Given the description of an element on the screen output the (x, y) to click on. 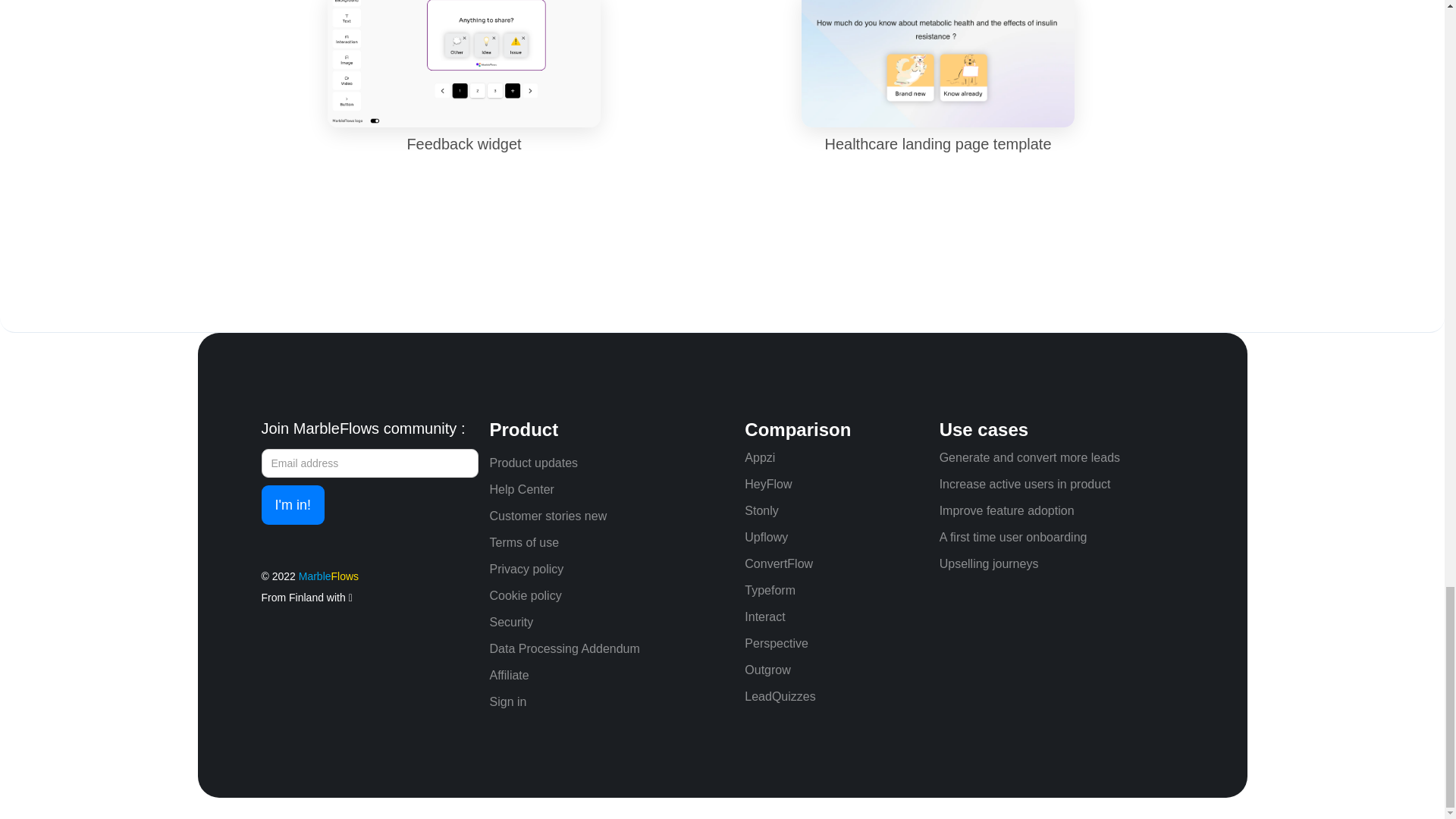
Data Processing Addendum (611, 649)
Feedback widget (464, 93)
Perspective (776, 643)
Sign in (611, 701)
Security (611, 622)
Stonly (760, 510)
Increase active users in product (1024, 484)
Interact (764, 617)
HeyFlow (768, 484)
Upselling journeys (989, 563)
Generate and convert more leads (1029, 457)
Terms of use (611, 542)
ConvertFlow (778, 563)
Privacy policy (611, 568)
Help Center (611, 489)
